Given the description of an element on the screen output the (x, y) to click on. 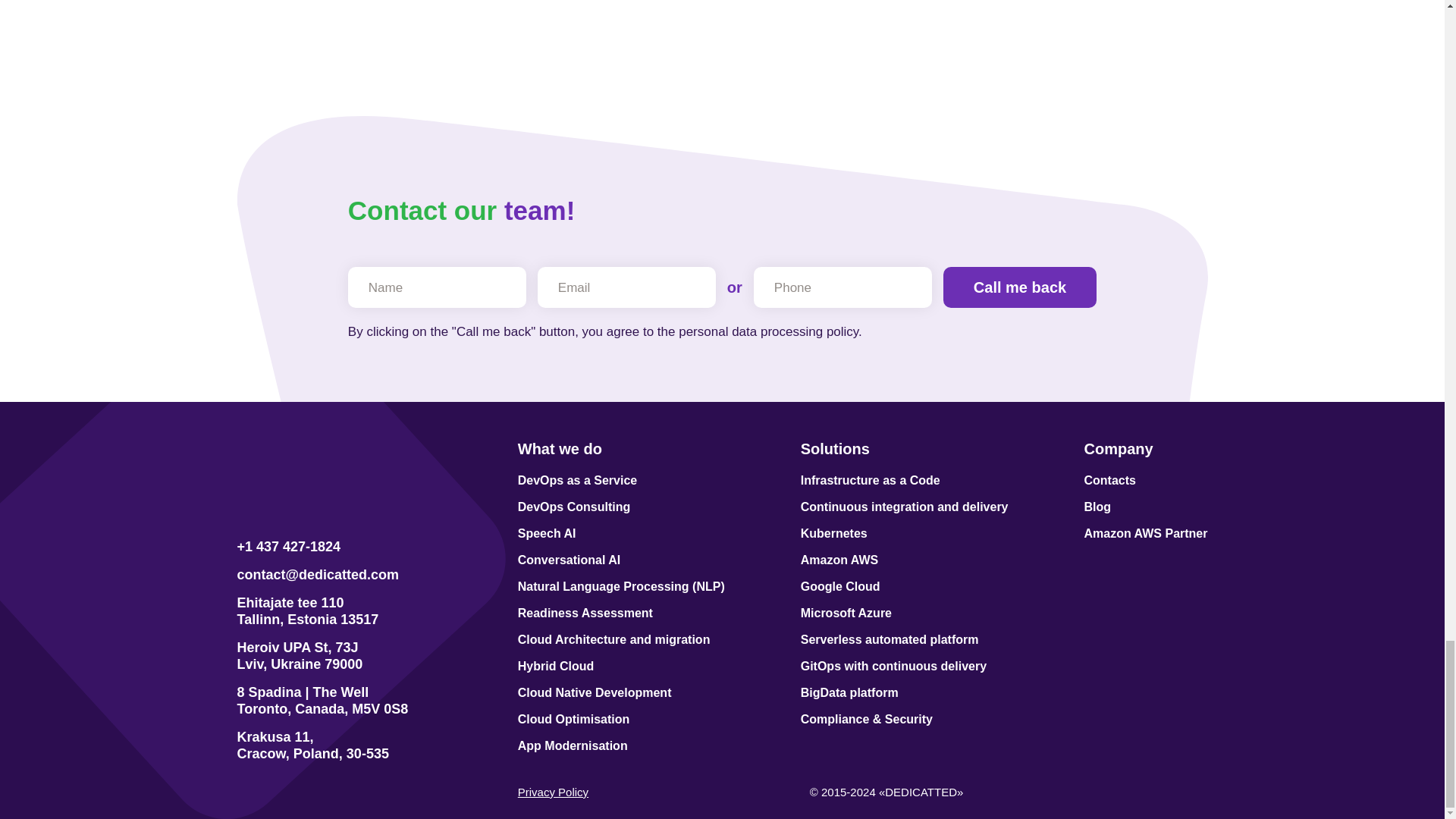
Amazon AWS Partner (1146, 533)
Infrastructure as a Code (904, 480)
Continuous integration and delivery (904, 507)
Speech AI (621, 533)
Serverless automated platform (904, 639)
Kubernetes (904, 533)
DevOps as a Service (621, 480)
App Modernisation (621, 745)
GitOps with continuous delivery (904, 666)
Conversational AI (621, 560)
